Given the description of an element on the screen output the (x, y) to click on. 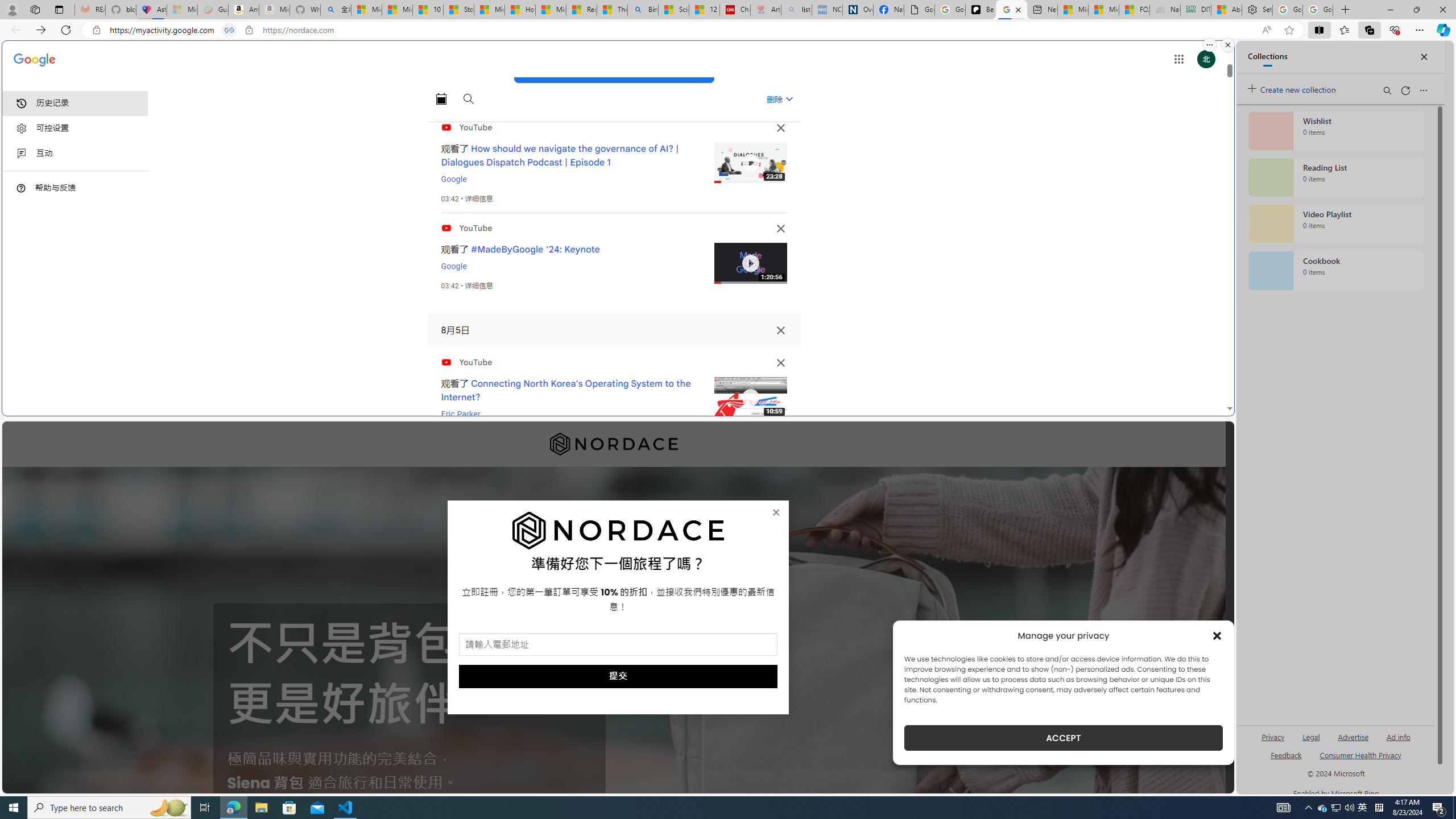
FOX News - MSN (1133, 9)
Stocks - MSN (458, 9)
Bing (642, 9)
Class: DTiKkd NMm5M (21, 188)
DITOGAMES AG Imprint (1194, 9)
Close split screen. (1227, 45)
